Given the description of an element on the screen output the (x, y) to click on. 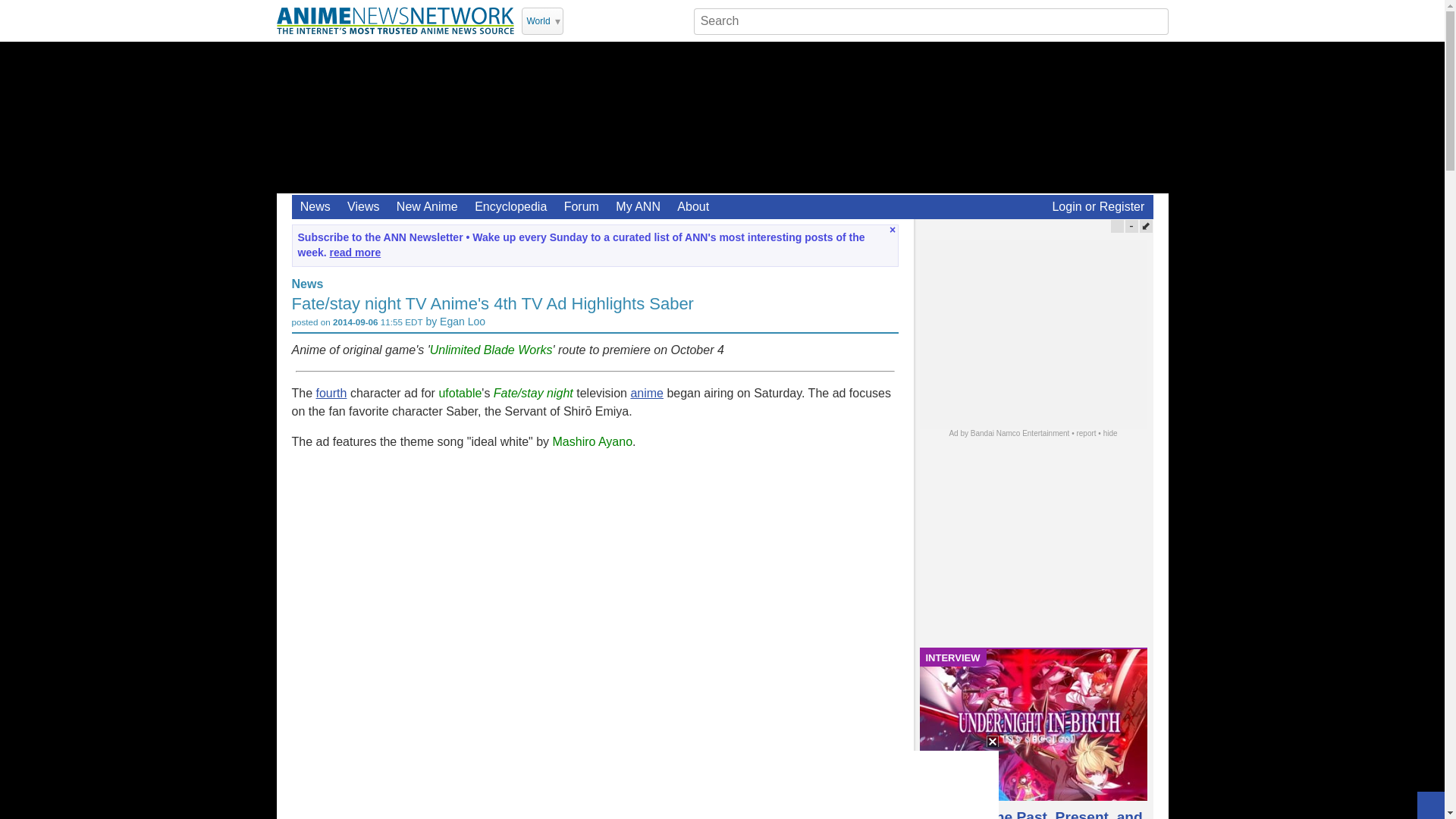
TikTok (656, 20)
Bluesky (675, 20)
Twitter (577, 20)
Choose Your Edition (542, 21)
Facebook (617, 20)
Youtube (597, 20)
Instagram (636, 20)
Return to Homepage (394, 20)
